Given the description of an element on the screen output the (x, y) to click on. 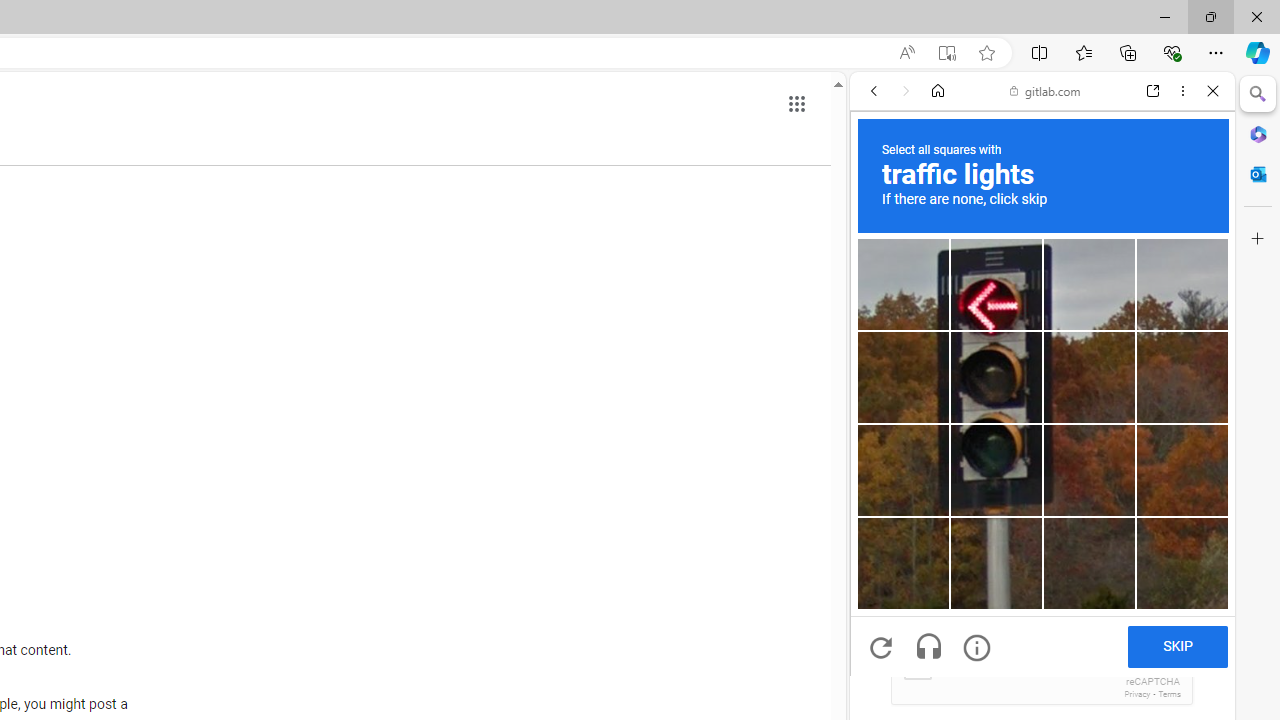
Dashboard (1042, 641)
Get an audio challenge (928, 647)
ALL   (881, 228)
Login (1042, 494)
About GitLab (1042, 592)
GitLab (1034, 288)
gitlab.com (1045, 90)
Dashboard (1042, 641)
